Given the description of an element on the screen output the (x, y) to click on. 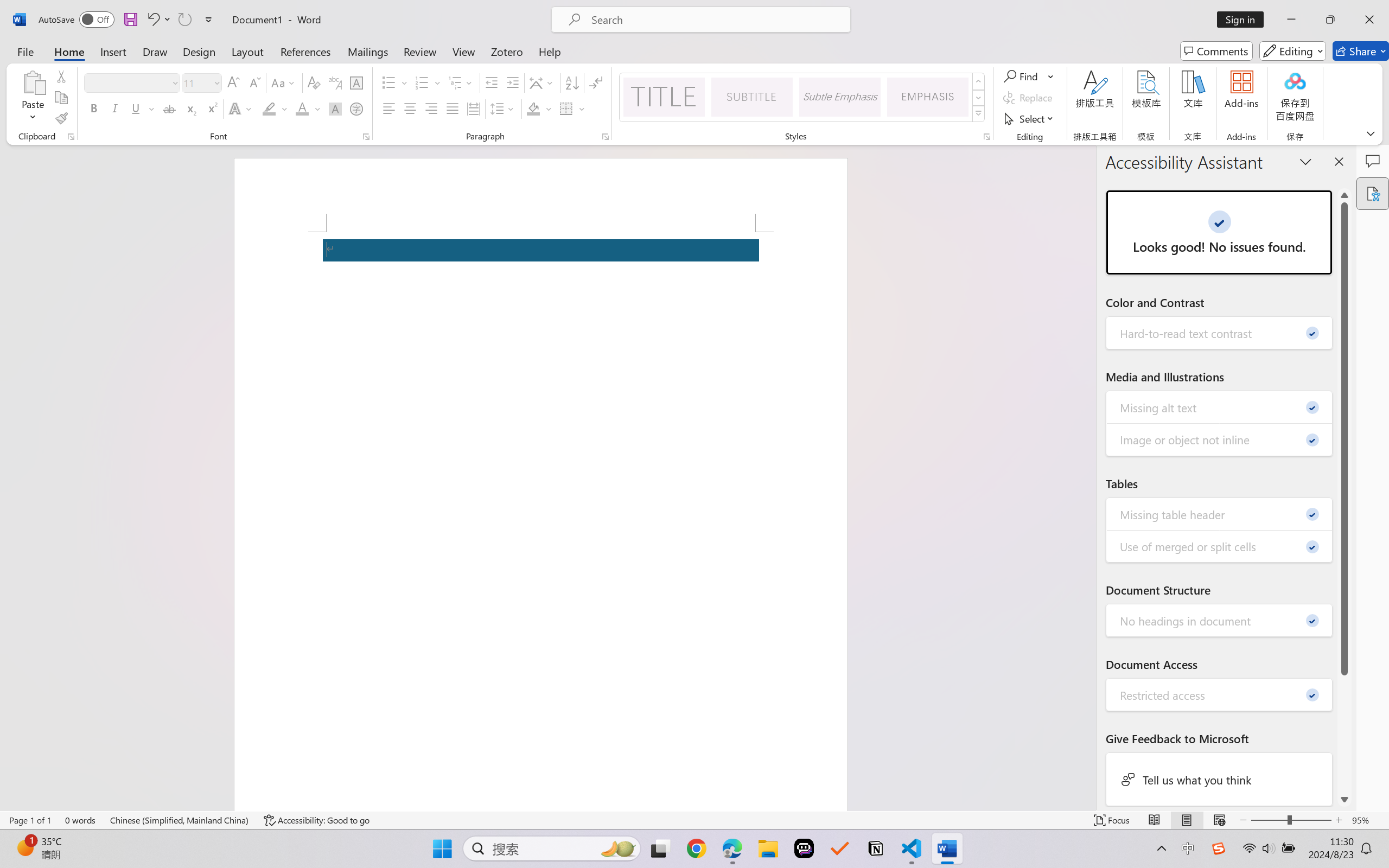
Editing (1292, 50)
AutomationID: QuickStylesGallery (802, 97)
Page down (1344, 733)
Undo Apply Quick Style Set (152, 19)
